Given the description of an element on the screen output the (x, y) to click on. 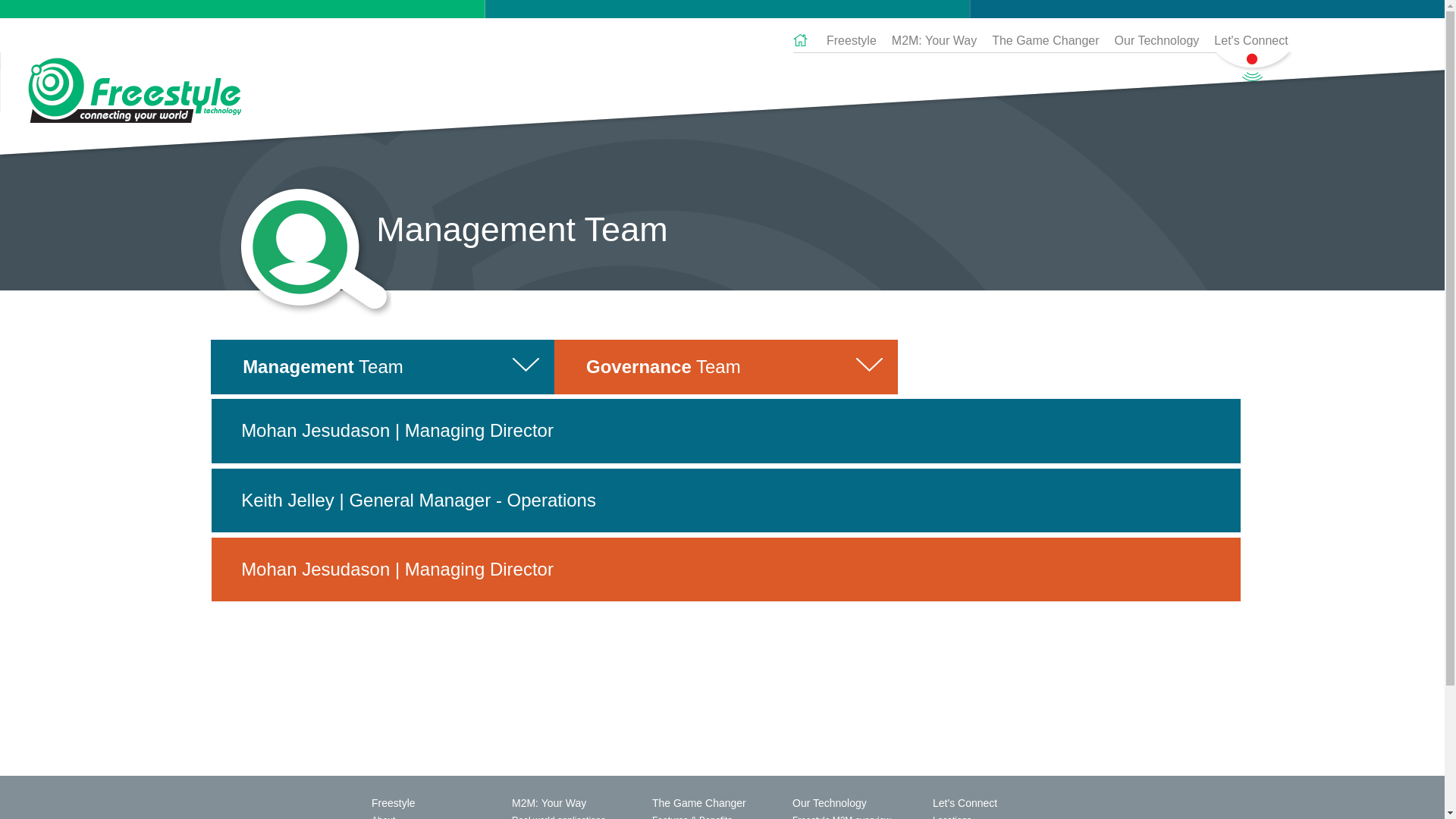
M2M: Your Way Element type: text (934, 40)
Keith Jelley | General Manager - Operations Element type: text (725, 500)
Freestyle Element type: text (851, 40)
Let's Connect Element type: text (1246, 40)
Mohan Jesudason | Managing Director Element type: text (725, 569)
Our Technology Element type: text (1157, 40)
The Game Changer Element type: text (1045, 40)
Mohan Jesudason | Managing Director Element type: text (725, 430)
